Given the description of an element on the screen output the (x, y) to click on. 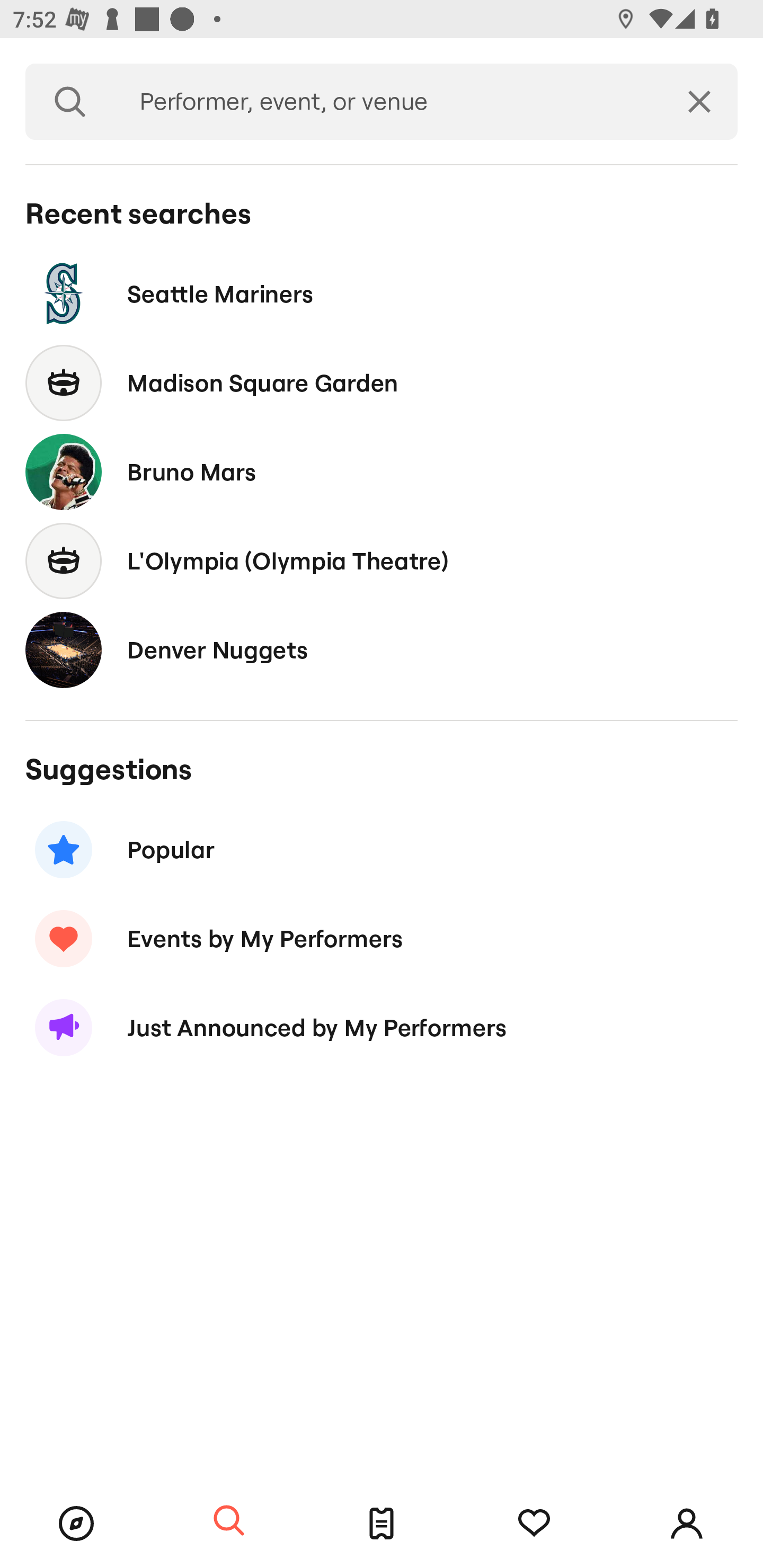
Search (69, 101)
Performer, event, or venue (387, 101)
Clear (699, 101)
Seattle Mariners (381, 293)
Madison Square Garden (381, 383)
Bruno Mars (381, 471)
L'Olympia (Olympia Theatre) (381, 560)
Denver Nuggets (381, 649)
Popular (381, 849)
Events by My Performers (381, 938)
Just Announced by My Performers (381, 1027)
Browse (76, 1523)
Search (228, 1521)
Tickets (381, 1523)
Tracking (533, 1523)
Account (686, 1523)
